Given the description of an element on the screen output the (x, y) to click on. 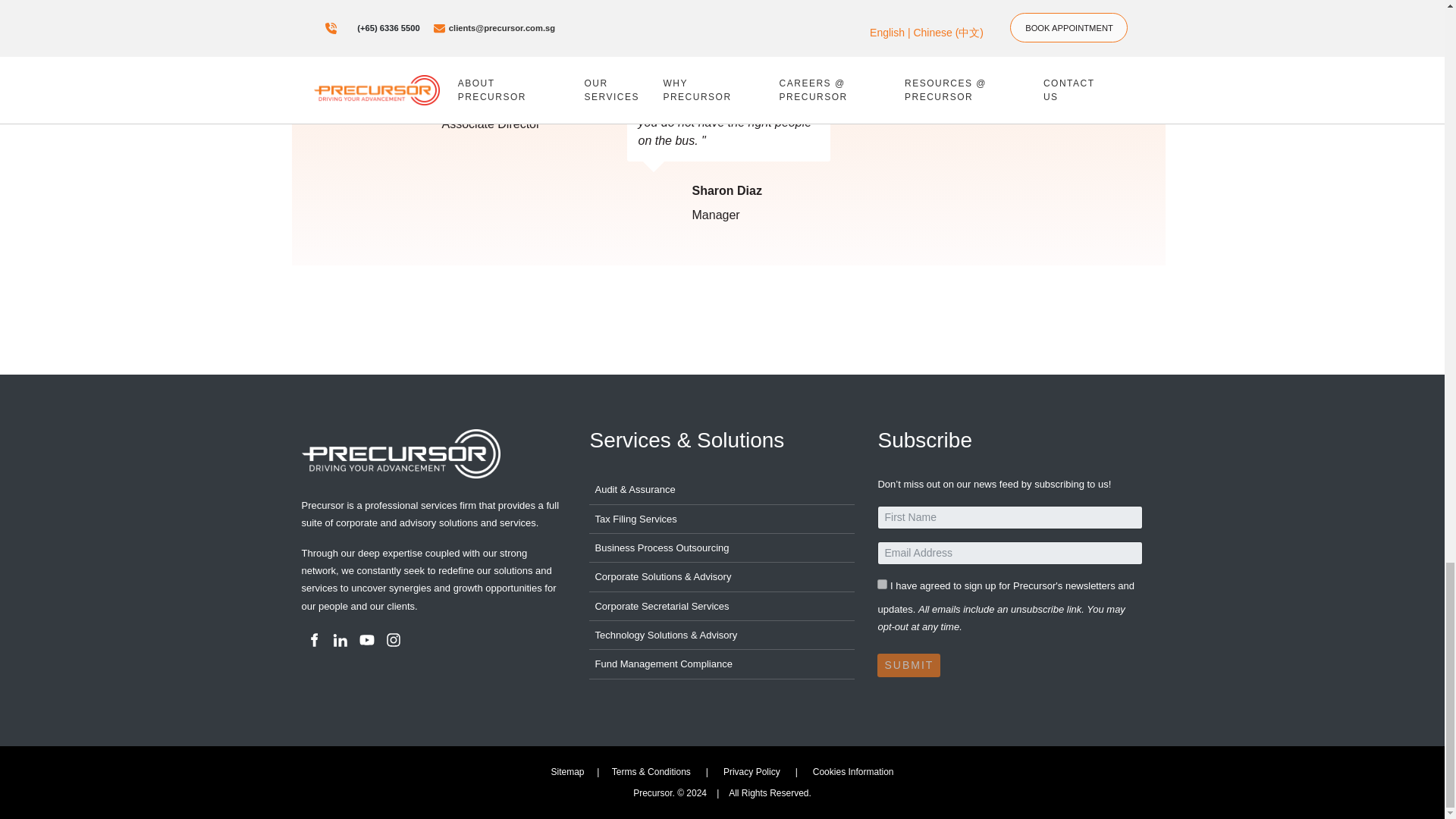
Instagram (393, 639)
Privacy Policy (751, 771)
Youtube (367, 639)
SUBMIT (908, 665)
Business Process Outsourcing (721, 547)
Corporate Secretarial Services (721, 606)
Facebook (313, 639)
Fund Management Compliance (721, 664)
Tax Filing Services (721, 519)
Cookies Information (852, 771)
